Given the description of an element on the screen output the (x, y) to click on. 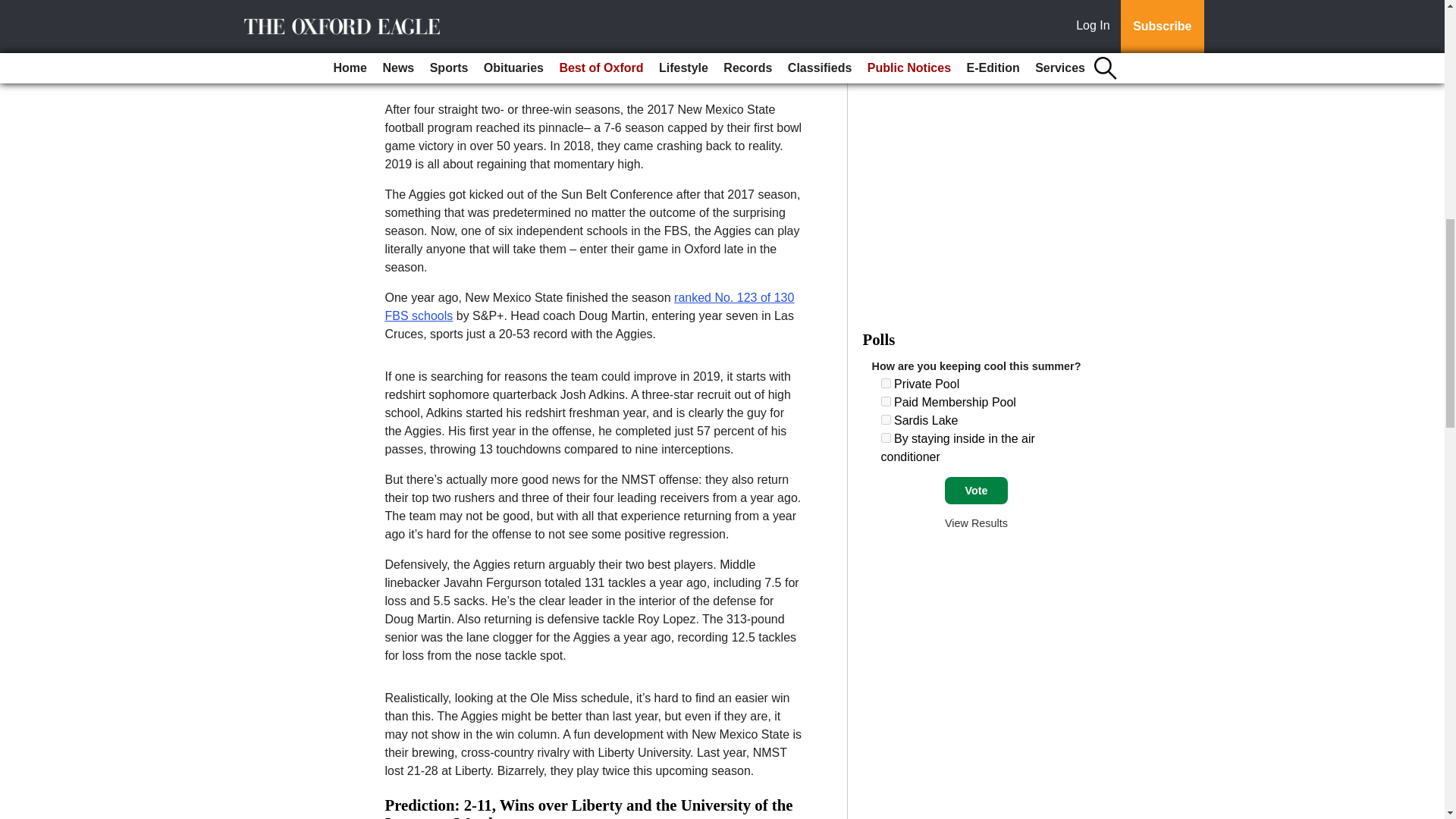
166 (885, 419)
164 (885, 383)
165 (885, 401)
ranked No. 123 of 130 FBS schools (589, 306)
Subscribe (434, 59)
View Results Of This Poll (975, 522)
167 (885, 438)
Subscribe (434, 59)
   Vote    (975, 490)
